Given the description of an element on the screen output the (x, y) to click on. 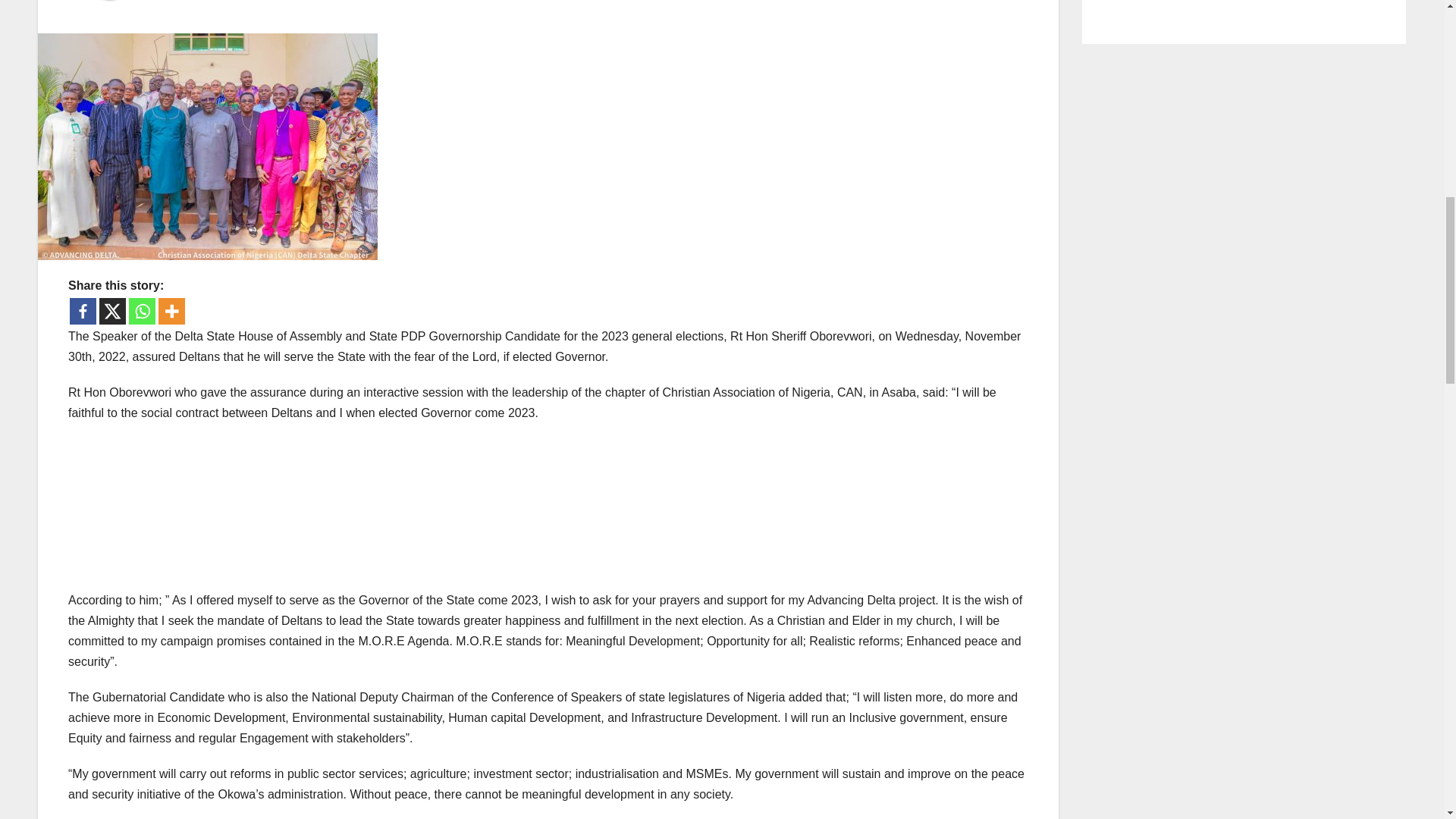
More (171, 311)
Facebook (82, 311)
X (112, 311)
Whatsapp (142, 311)
